Given the description of an element on the screen output the (x, y) to click on. 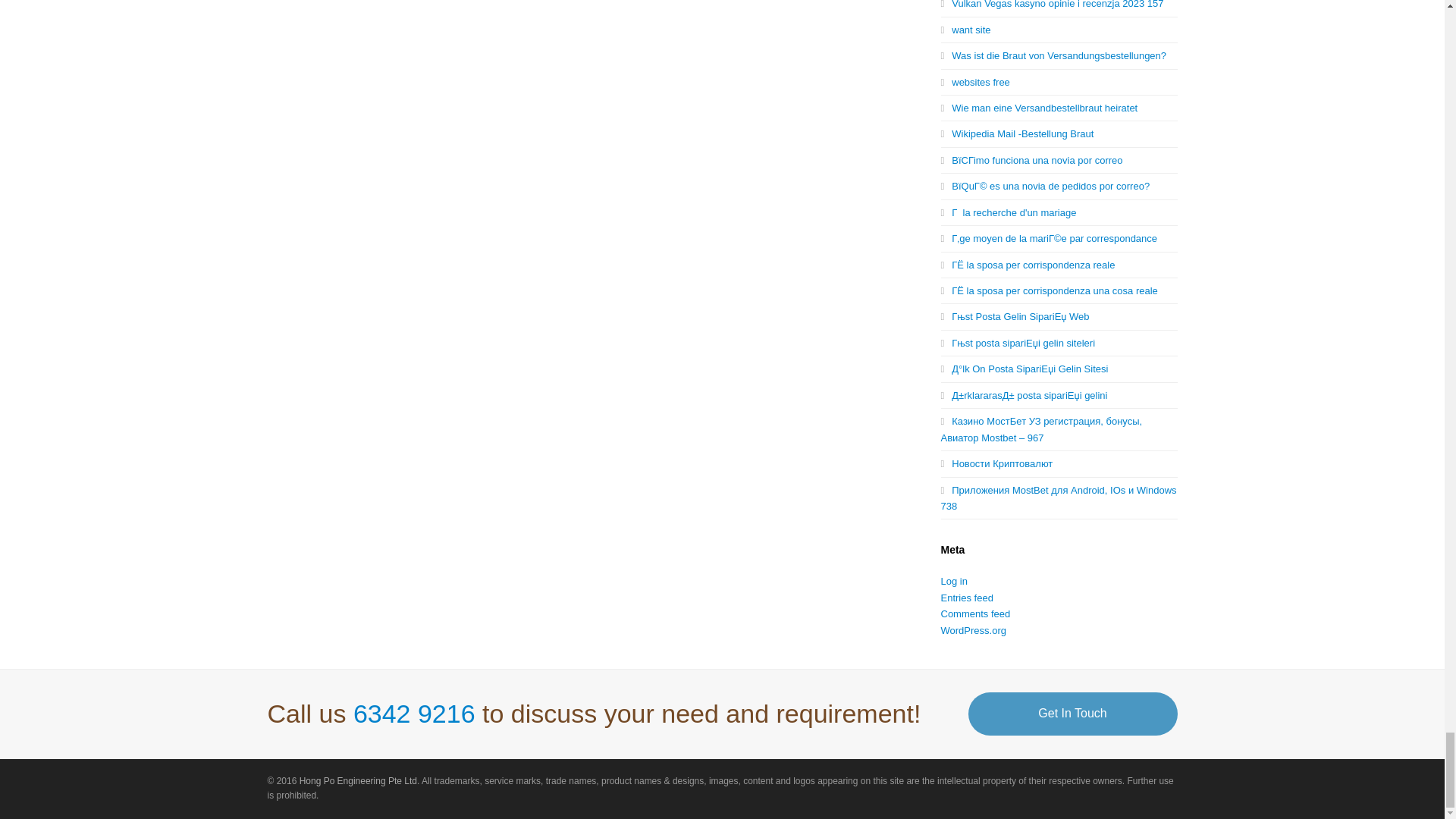
Get In Touch (1072, 713)
